Given the description of an element on the screen output the (x, y) to click on. 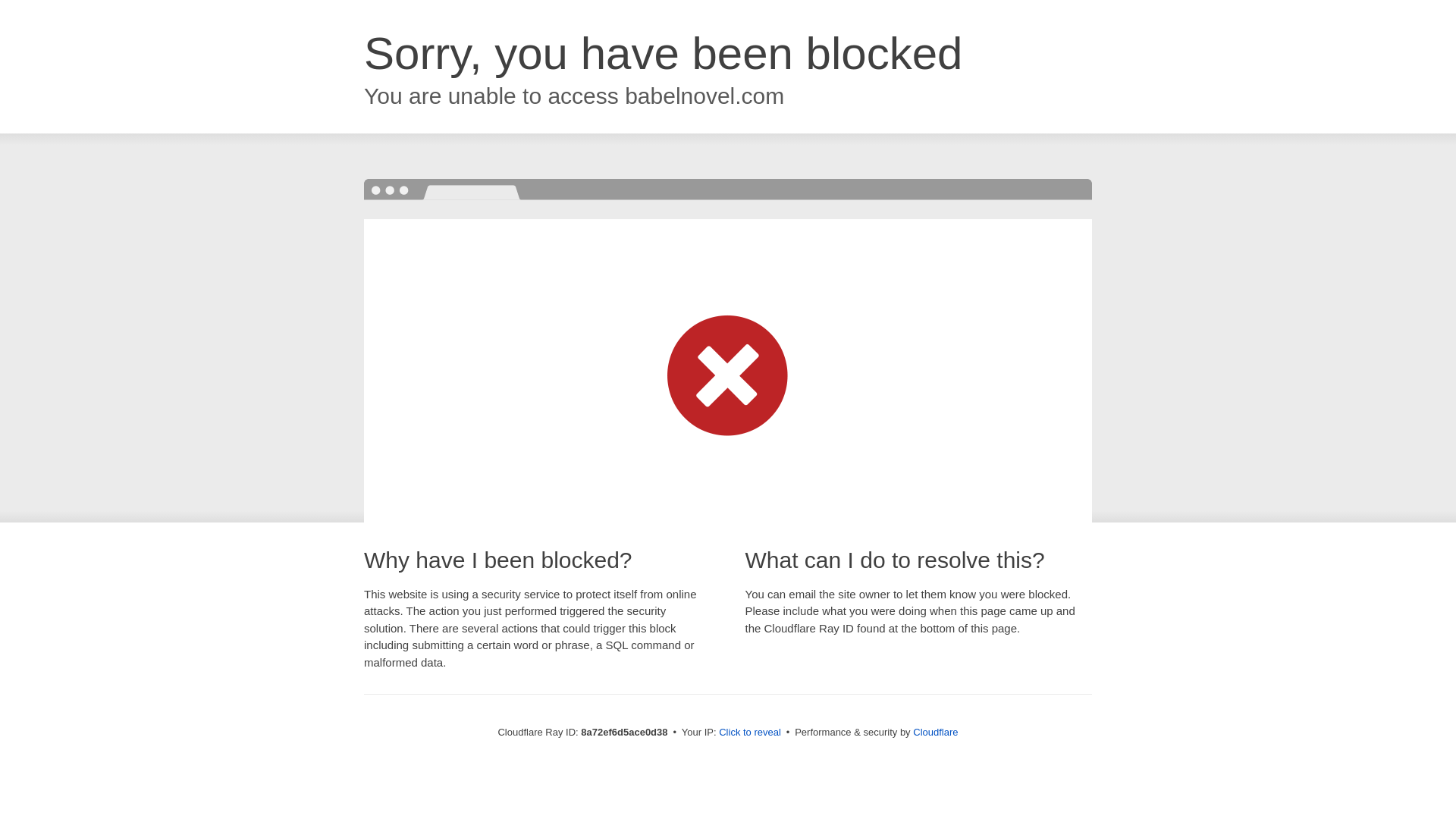
Cloudflare (935, 731)
Click to reveal (749, 732)
